Given the description of an element on the screen output the (x, y) to click on. 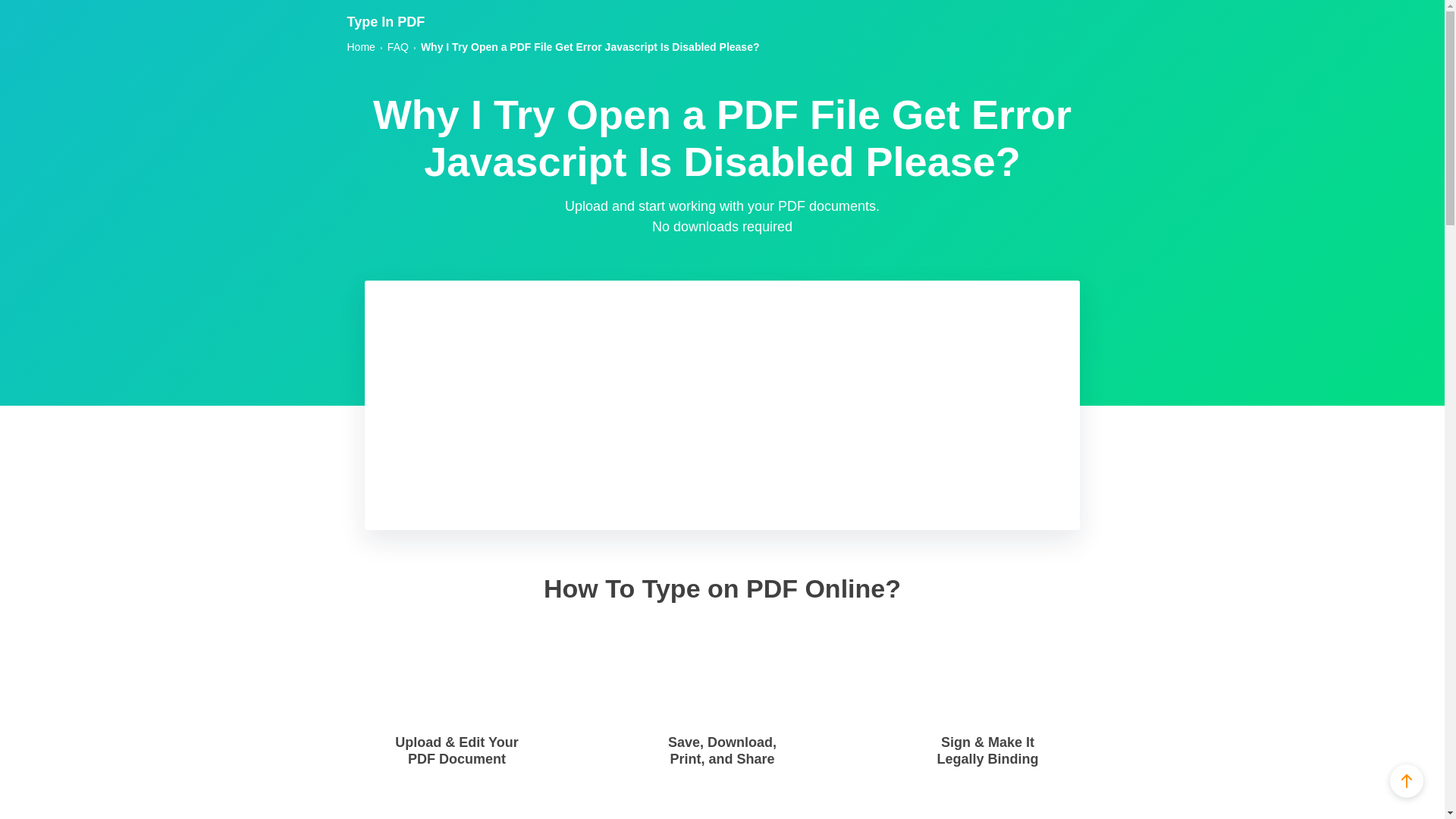
Type In PDF (386, 21)
Scroll Up (1406, 780)
FAQ (398, 46)
Home (361, 46)
